Given the description of an element on the screen output the (x, y) to click on. 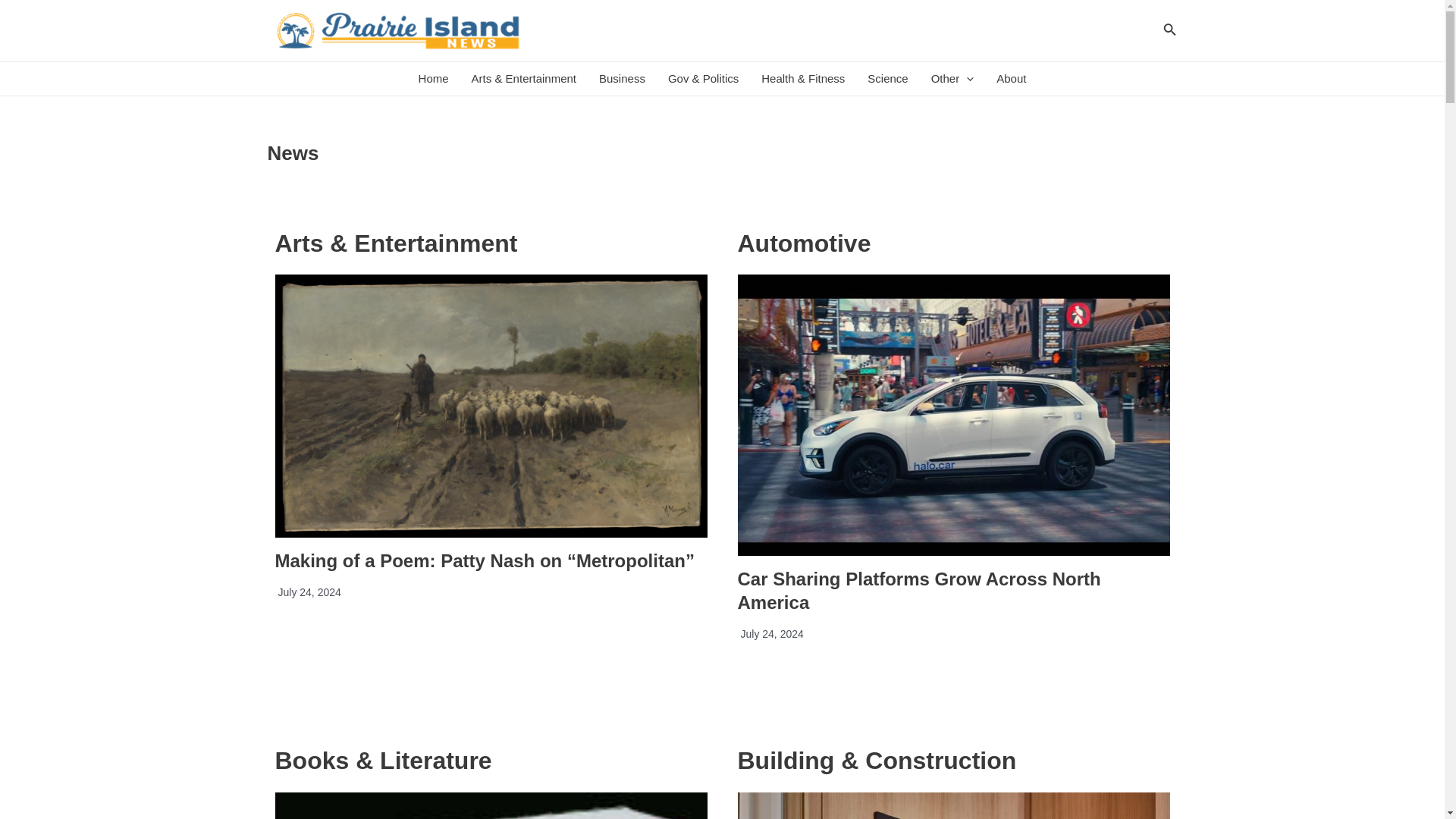
About (1010, 78)
Home (433, 78)
Science (887, 78)
Other (952, 78)
Business (622, 78)
